Given the description of an element on the screen output the (x, y) to click on. 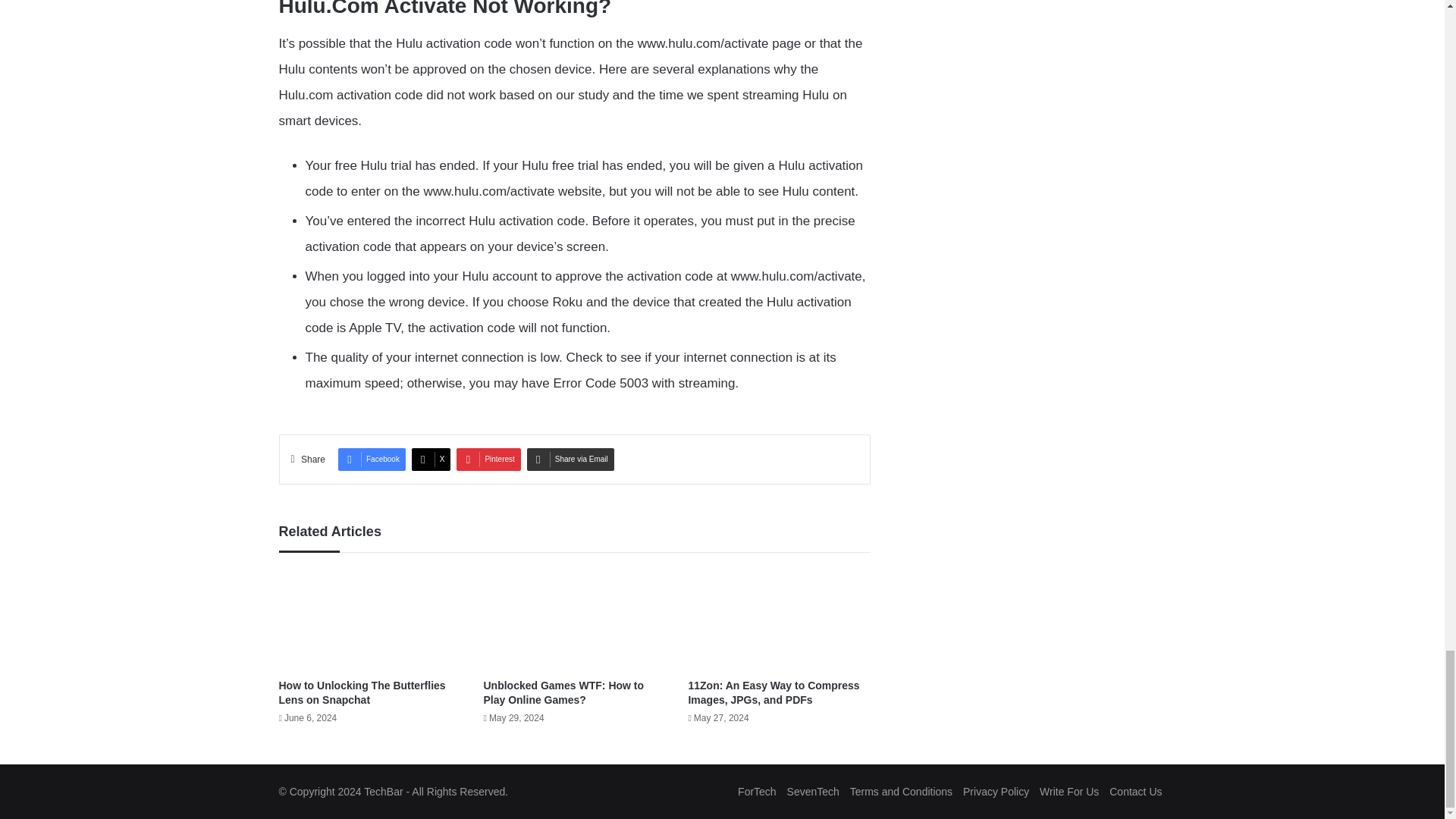
Share via Email (570, 458)
Facebook (371, 458)
X (431, 458)
Pinterest (488, 458)
X (431, 458)
Facebook (371, 458)
